Given the description of an element on the screen output the (x, y) to click on. 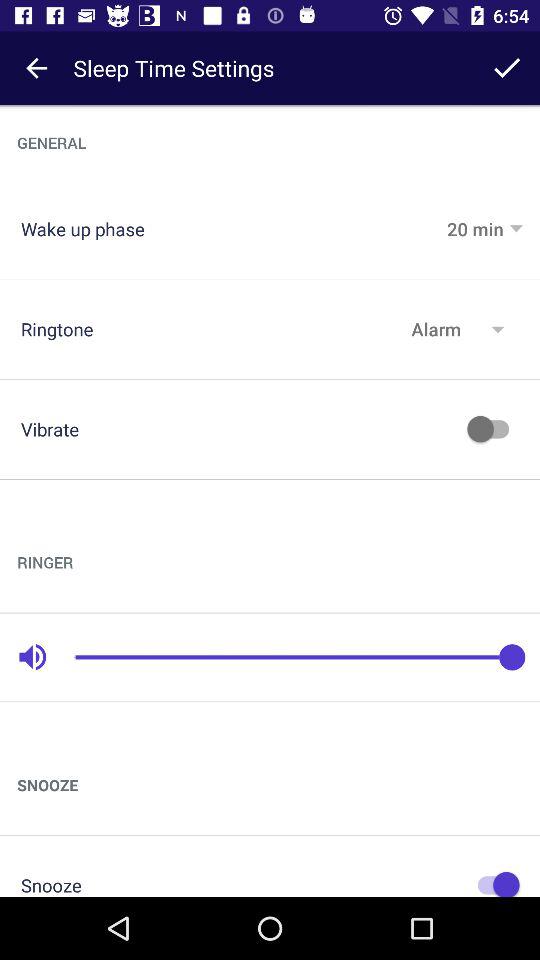
switch autoplay option (493, 429)
